Given the description of an element on the screen output the (x, y) to click on. 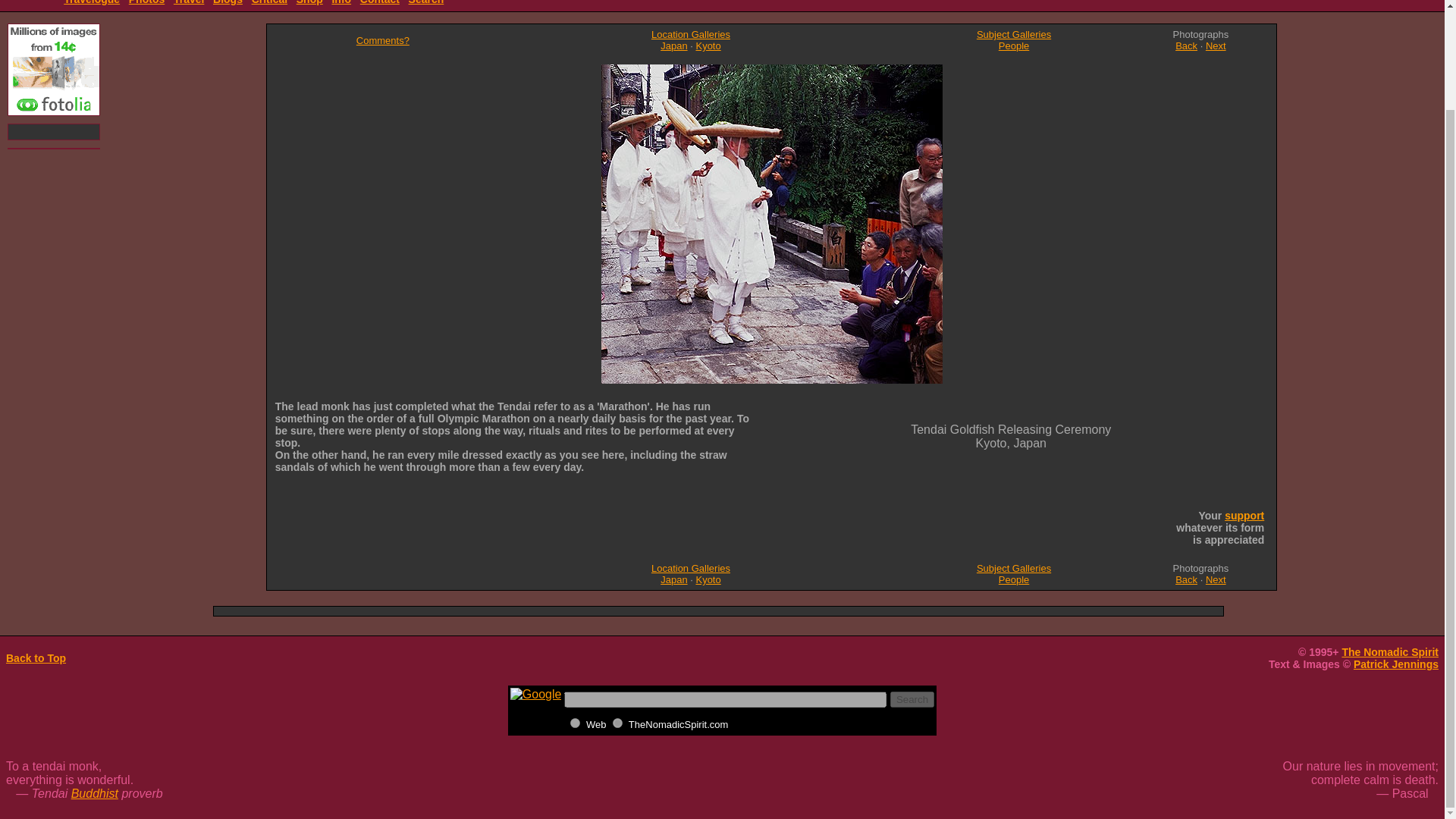
Travelogue (91, 2)
Back (1185, 45)
Contact (378, 2)
Shop (310, 2)
www.synaptic.bc.ca (617, 723)
Japan (674, 579)
Location Galleries (690, 568)
Japan (674, 45)
Search (426, 2)
Kyoto (707, 579)
support (1243, 515)
Subject Galleries (1013, 568)
Subject Galleries (1013, 34)
Info (340, 2)
Back (1185, 579)
